Given the description of an element on the screen output the (x, y) to click on. 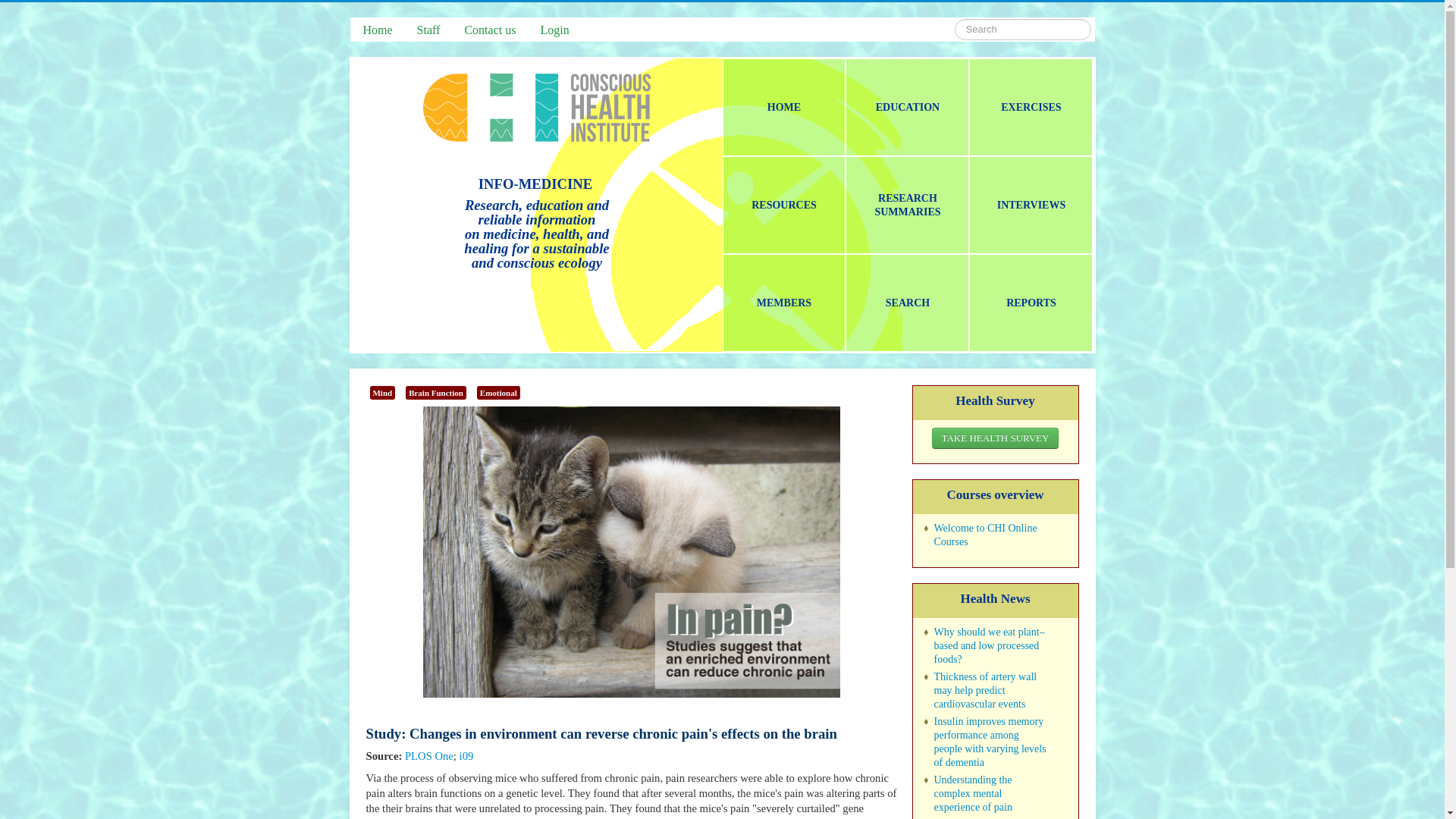
i09 (467, 756)
Welcome to CHI Online Courses (985, 534)
MEMBERS (784, 302)
EDUCATION (906, 106)
Brain Function (435, 392)
RESEARCH SUMMARIES (906, 205)
HOME (784, 106)
TAKE HEALTH SURVEY (995, 437)
REPORTS (1030, 302)
